Given the description of an element on the screen output the (x, y) to click on. 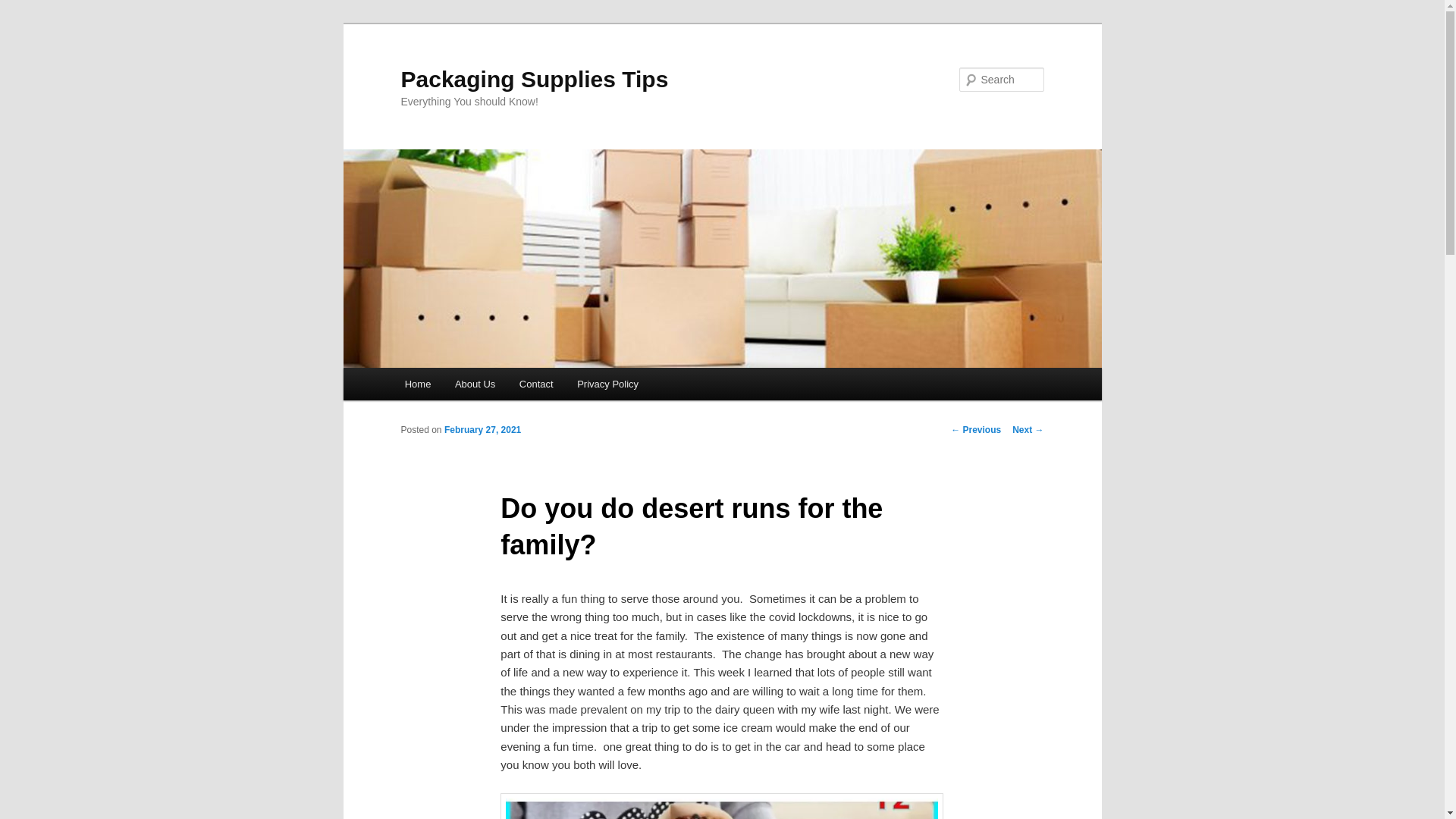
Packaging Supplies Tips (534, 78)
Search (24, 8)
Home (417, 383)
About Us (474, 383)
Privacy Policy (606, 383)
Contact (535, 383)
February 27, 2021 (482, 429)
1:44 pm (482, 429)
